Given the description of an element on the screen output the (x, y) to click on. 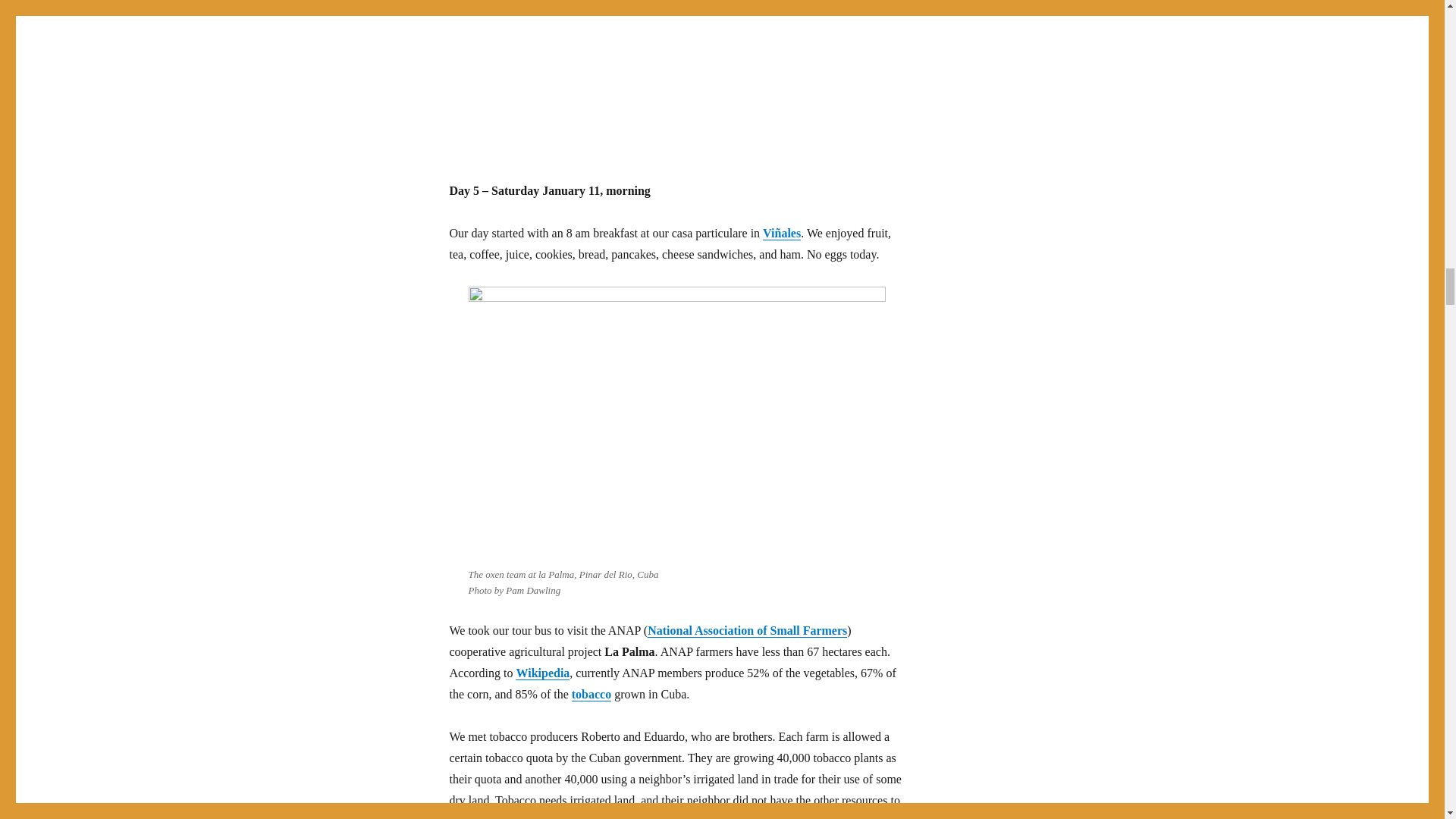
tobacco (591, 694)
National Association of Small Farmers (747, 630)
Wikipedia (542, 672)
